Given the description of an element on the screen output the (x, y) to click on. 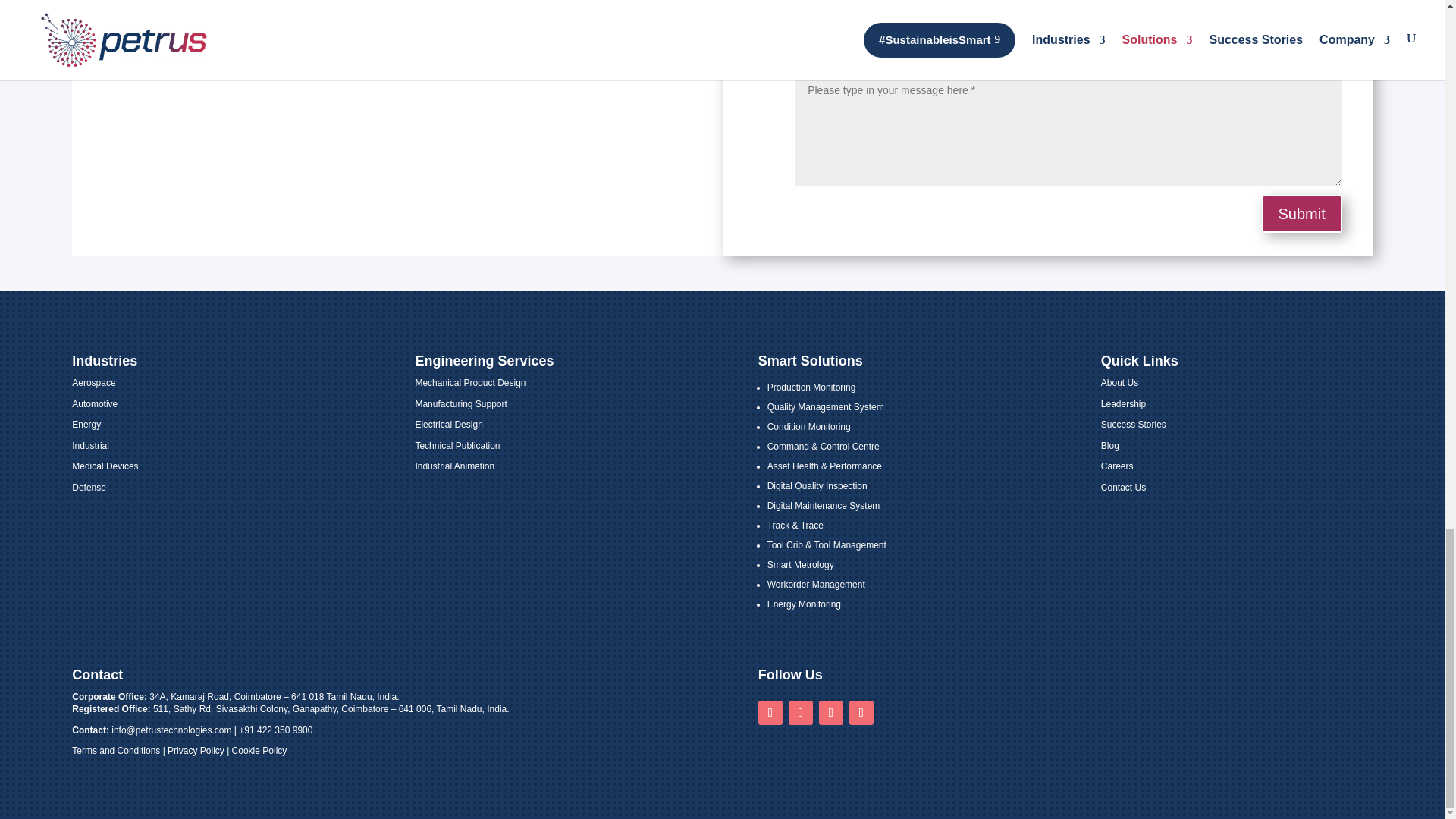
Follow on X (770, 712)
Follow on Instagram (830, 712)
Follow on LinkedIn (800, 712)
Follow on Facebook (860, 712)
